Given the description of an element on the screen output the (x, y) to click on. 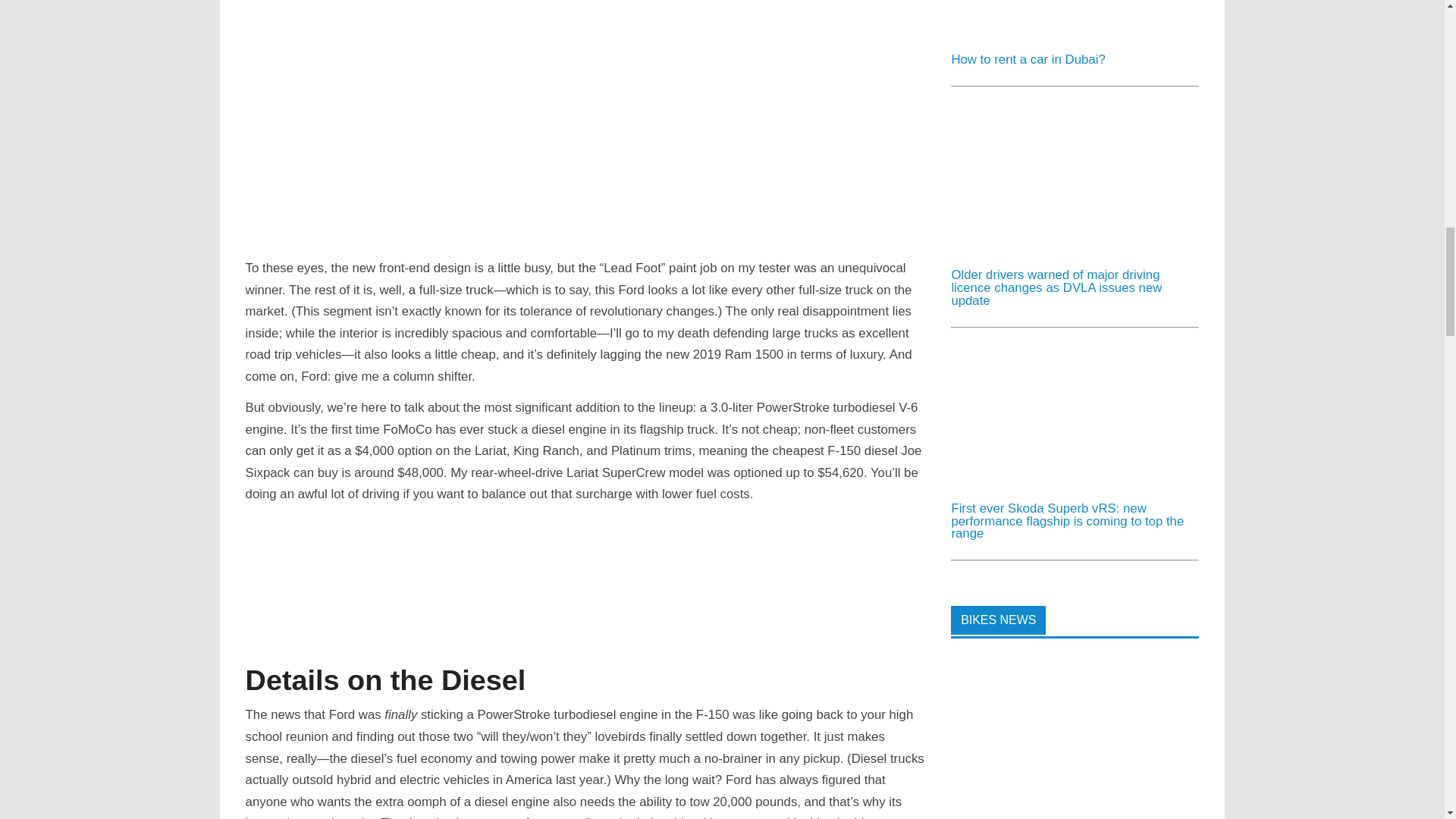
How to rent a car in Dubai? (1063, 34)
How to rent a car in Dubai? (1027, 59)
